Given the description of an element on the screen output the (x, y) to click on. 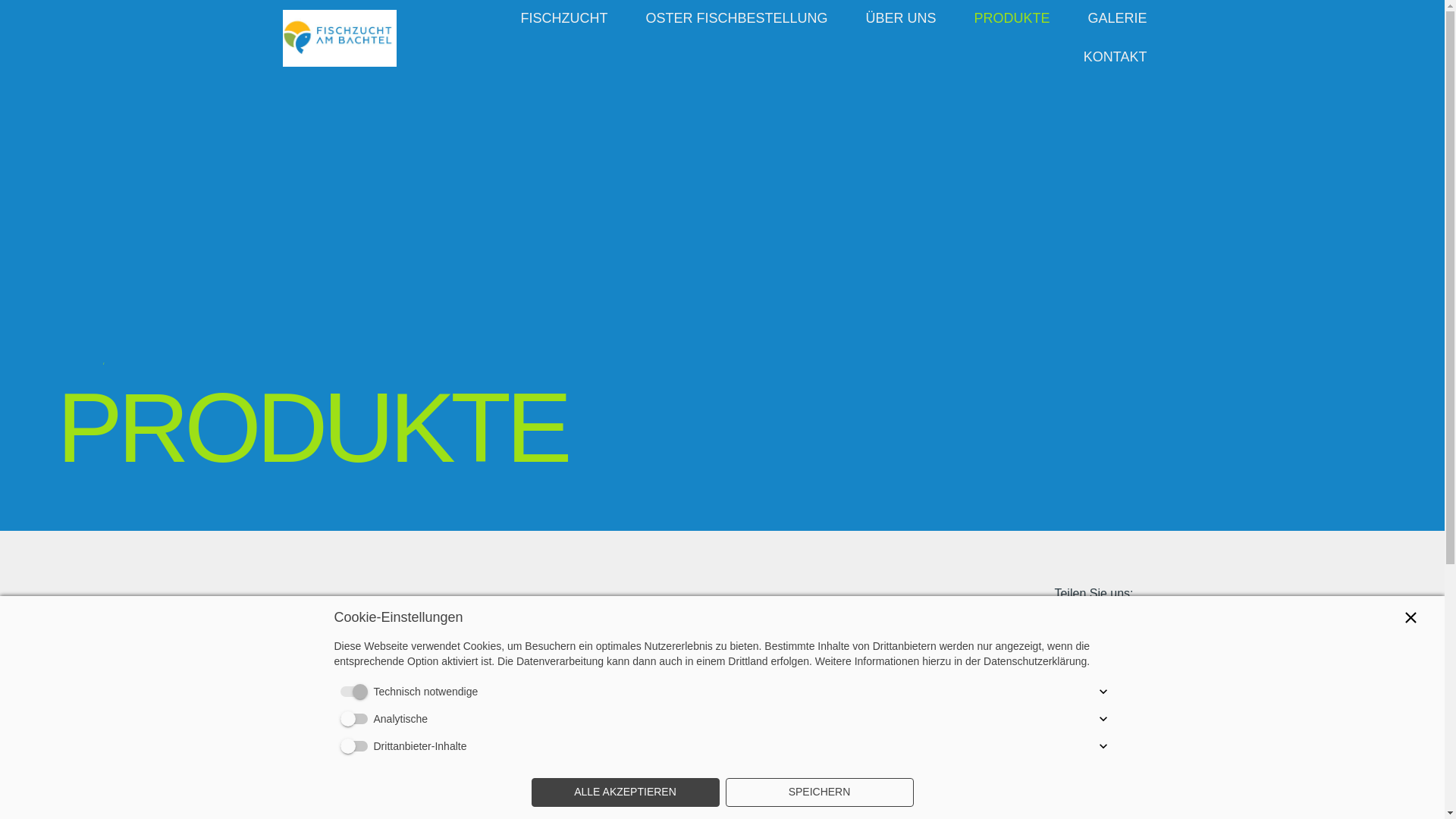
OSTER FISCHBESTELLUNG Element type: text (736, 17)
SPEICHERN Element type: text (818, 792)
Cookie-Einstellungen Element type: text (1078, 704)
GALERIE Element type: text (1116, 17)
KONTAKT Element type: text (1115, 56)
PRODUKTE Element type: text (1011, 17)
ALLE AKZEPTIEREN Element type: text (624, 792)
  Element type: text (338, 37)
FISCHZUCHT Element type: text (563, 17)
